Given the description of an element on the screen output the (x, y) to click on. 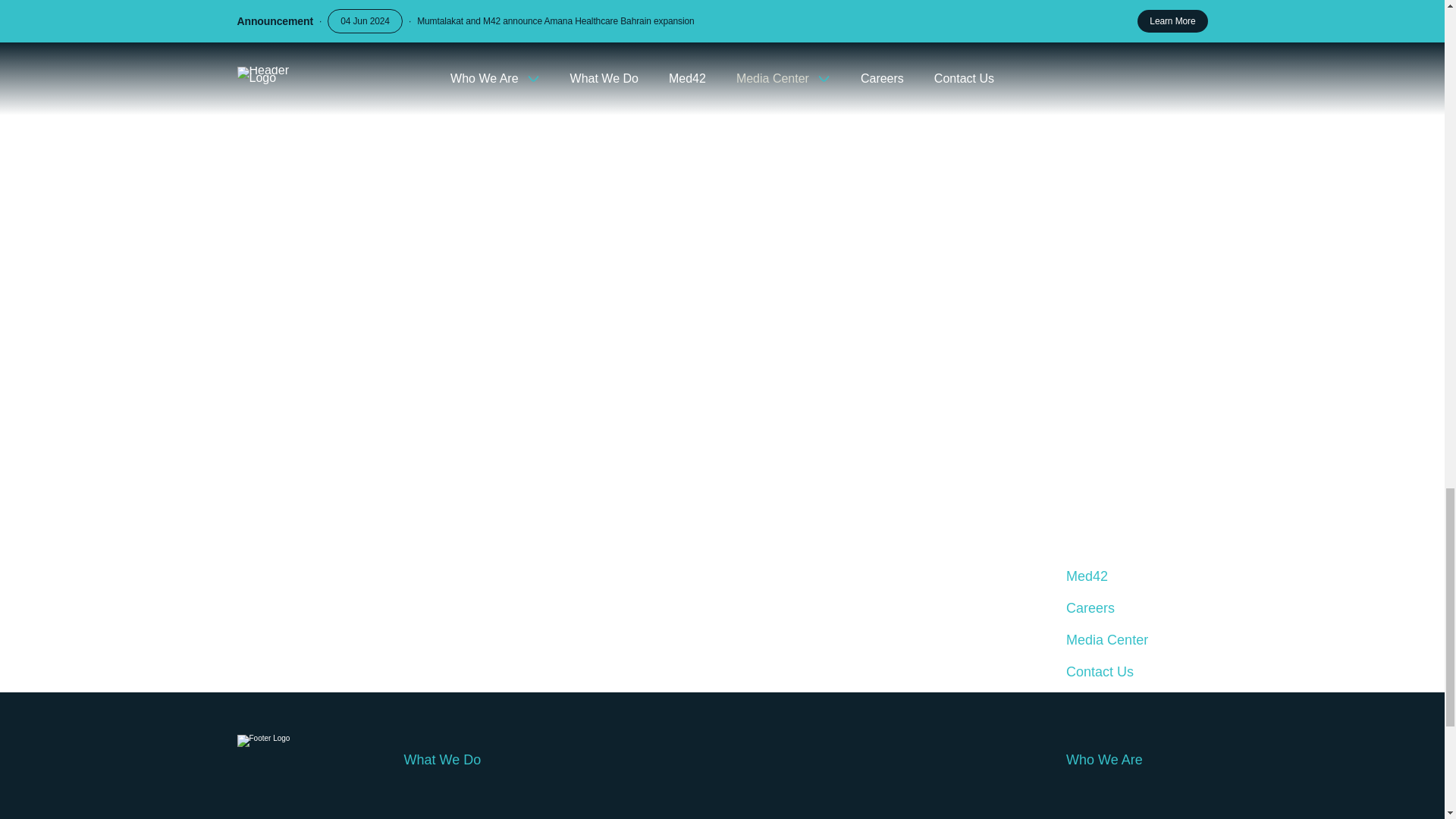
Med42 (1136, 576)
Contact Us (1136, 671)
Careers (1136, 608)
Media Center (1136, 640)
What We Do (722, 759)
Who We Are (1136, 759)
